Given the description of an element on the screen output the (x, y) to click on. 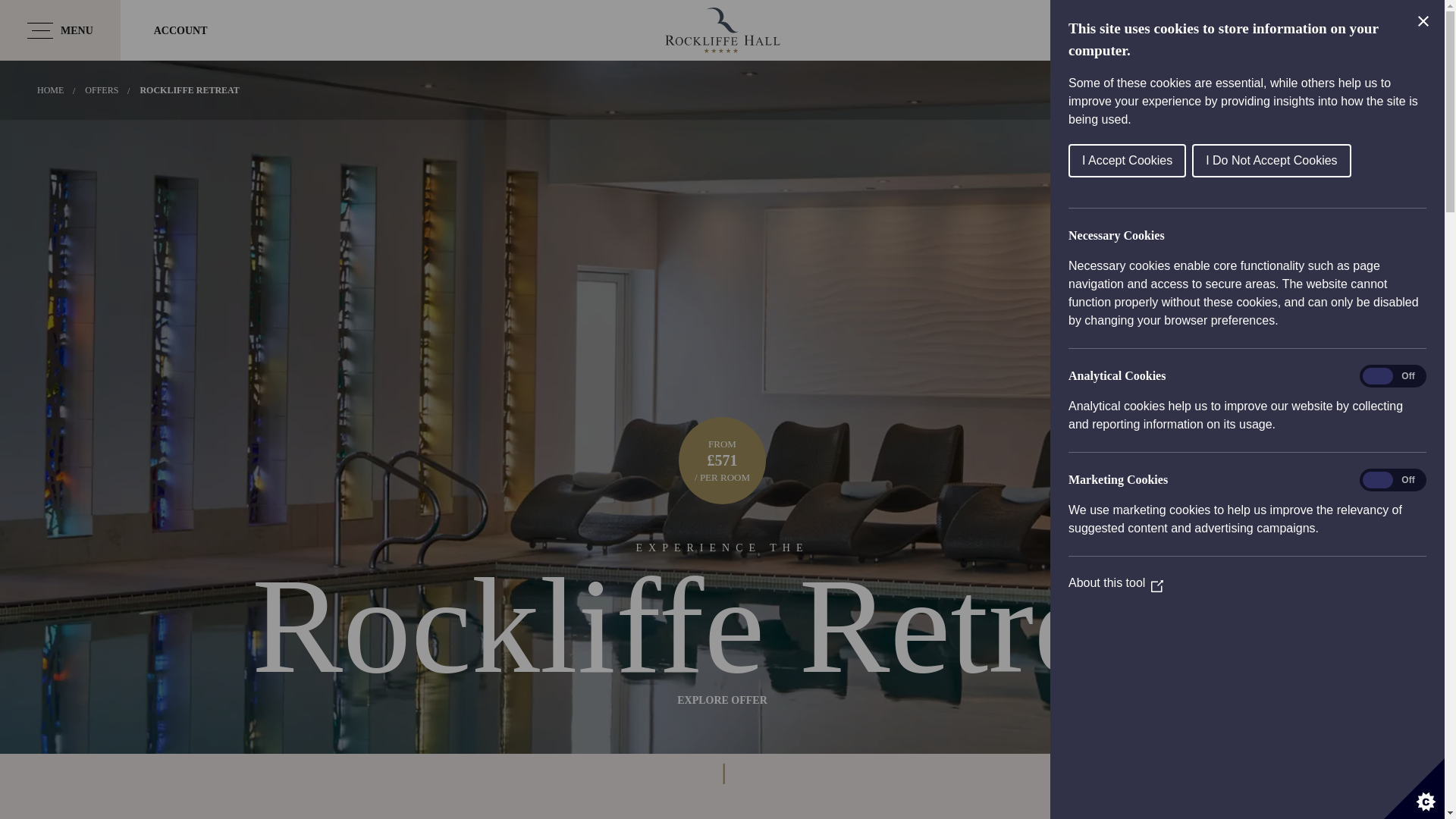
ROCKLIFFE RETREAT (188, 90)
Gift Vouchers (1264, 30)
OFFERS (100, 90)
EXPLORE OFFER (722, 700)
HOME (50, 90)
ACCOUNT (180, 30)
MENU (60, 30)
BUY GIFTS (1264, 30)
